Given the description of an element on the screen output the (x, y) to click on. 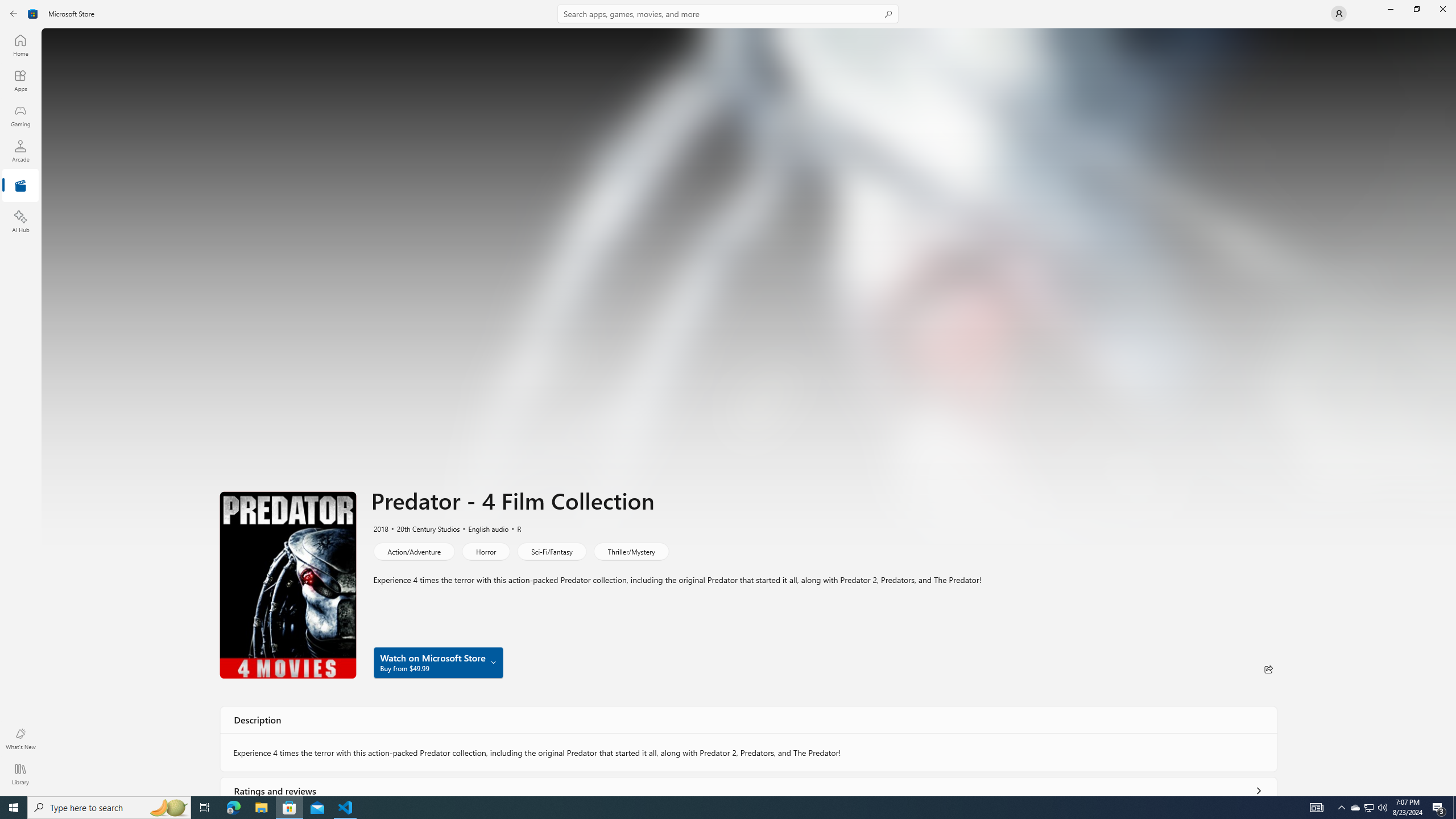
User profile (1338, 13)
Close Microsoft Store (1442, 9)
AI Hub (20, 221)
Entertainment (20, 185)
AutomationID: NavigationControl (728, 398)
2018 (379, 528)
Apps (20, 80)
Horror (485, 551)
Watch on Microsoft Store Buy from $49.99 (437, 662)
Home (20, 45)
Gaming (20, 115)
Arcade (20, 150)
